Given the description of an element on the screen output the (x, y) to click on. 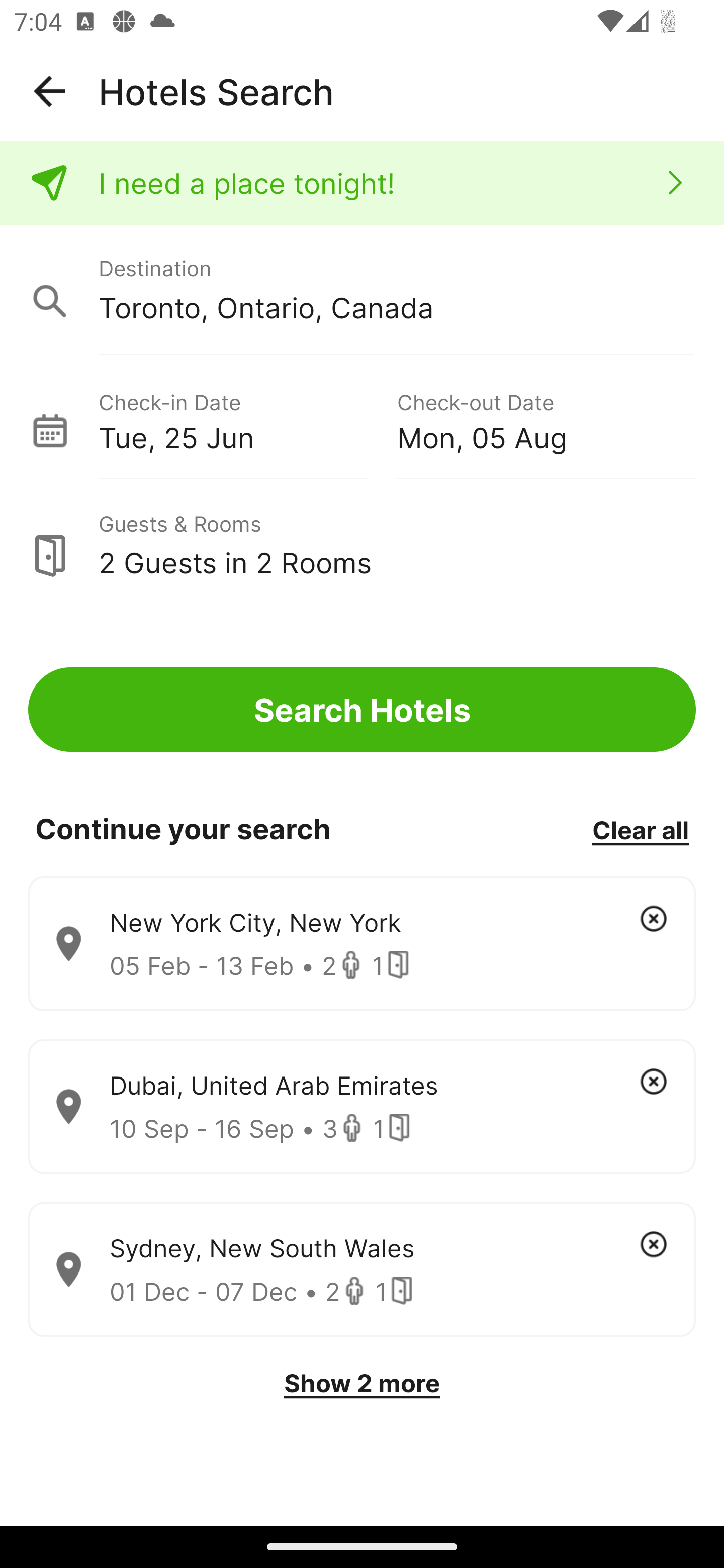
I need a place tonight! (362, 183)
Destination Toronto, Ontario, Canada (362, 290)
Check-in Date Tue, 25 Jun (247, 418)
Check-out Date Mon, 05 Aug (546, 418)
Guests & Rooms 2 Guests in 2 Rooms (362, 545)
Search Hotels (361, 709)
Clear all (640, 829)
New York City, New York 05 Feb - 13 Feb • 2  1  (361, 943)
Sydney, New South Wales 01 Dec - 07 Dec • 2  1  (361, 1269)
Show 2 more (362, 1382)
